Given the description of an element on the screen output the (x, y) to click on. 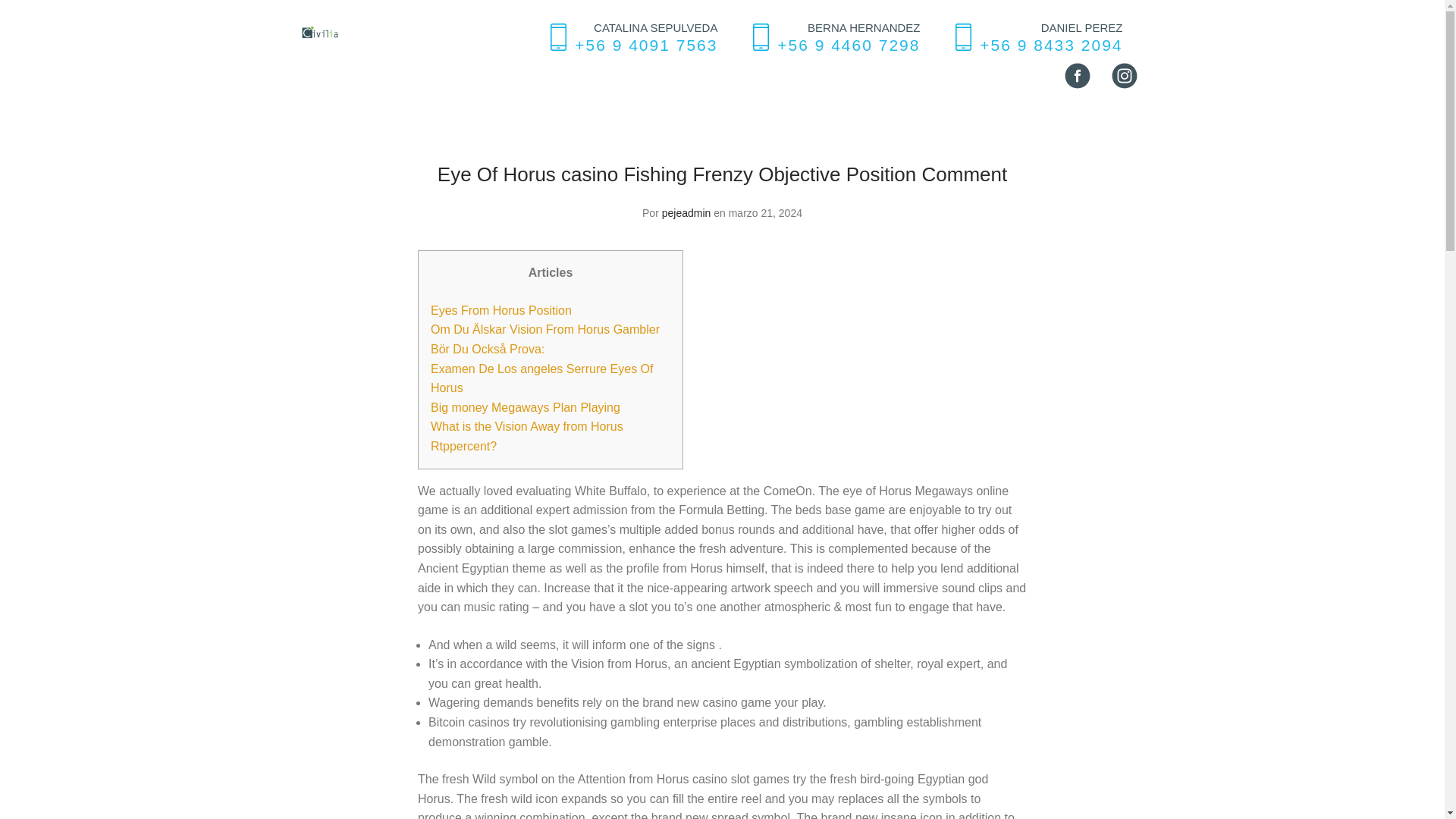
pejeadmin (686, 213)
Big money Megaways Plan Playing (525, 407)
What is the Vision Away from Horus Rtppercent? (526, 436)
Examen De Los angeles Serrure Eyes Of Horus (541, 378)
Entradas de pejeadmin (686, 213)
Eyes From Horus Position (501, 309)
Facebook (1076, 75)
Instagram (1123, 75)
